Given the description of an element on the screen output the (x, y) to click on. 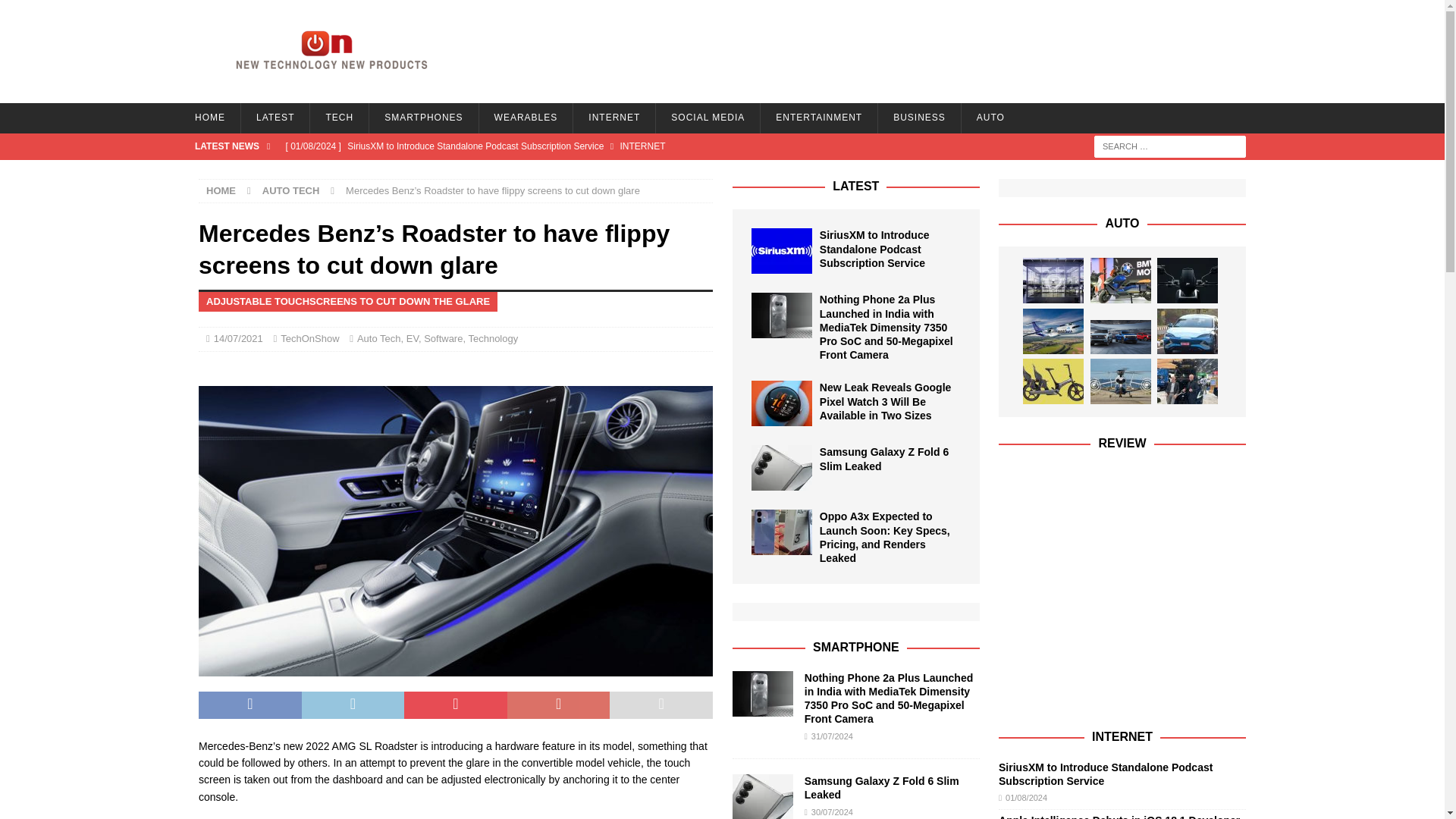
WEARABLES (526, 117)
EV (412, 337)
SOCIAL MEDIA (707, 117)
SMARTPHONES (422, 117)
Software (443, 337)
Technology (492, 337)
AUTO TECH (291, 190)
HOME (220, 190)
TechOnShow (310, 337)
